Given the description of an element on the screen output the (x, y) to click on. 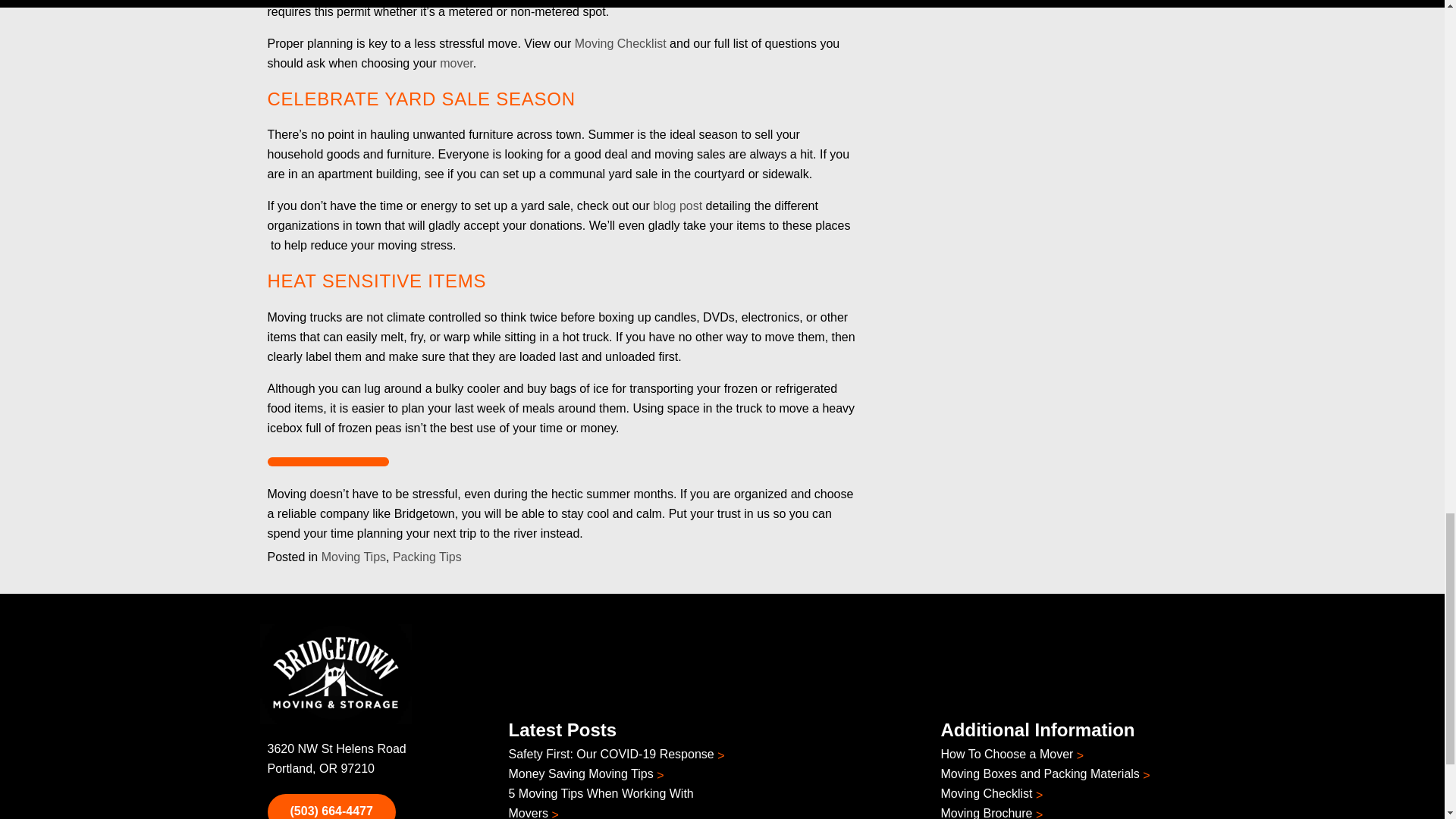
Packing Tips (427, 556)
mover (456, 62)
blog post (676, 205)
Moving Checklist (620, 42)
Moving Tips (353, 556)
